Given the description of an element on the screen output the (x, y) to click on. 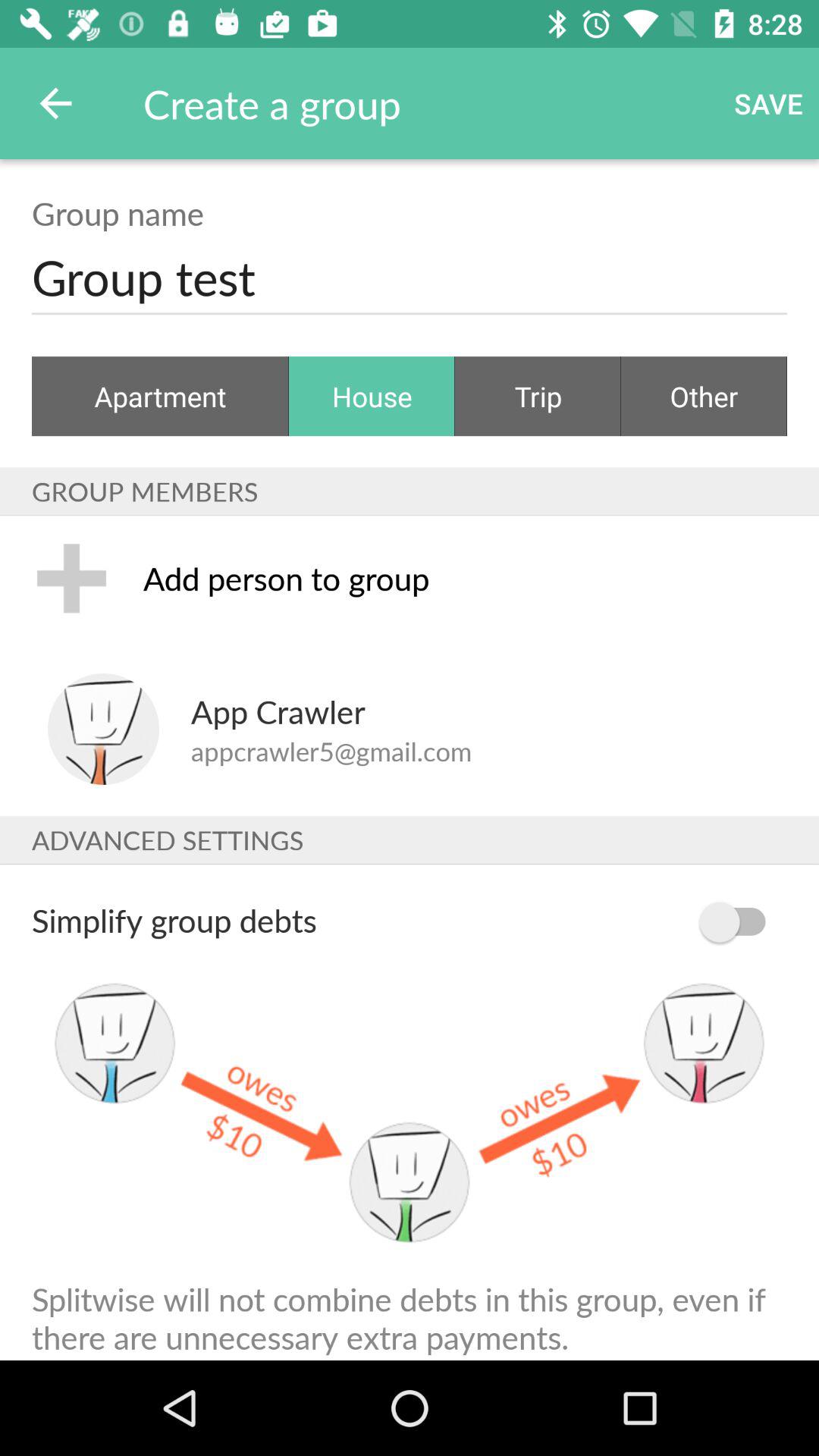
choose the item to the right of simplify group debts (739, 922)
